Given the description of an element on the screen output the (x, y) to click on. 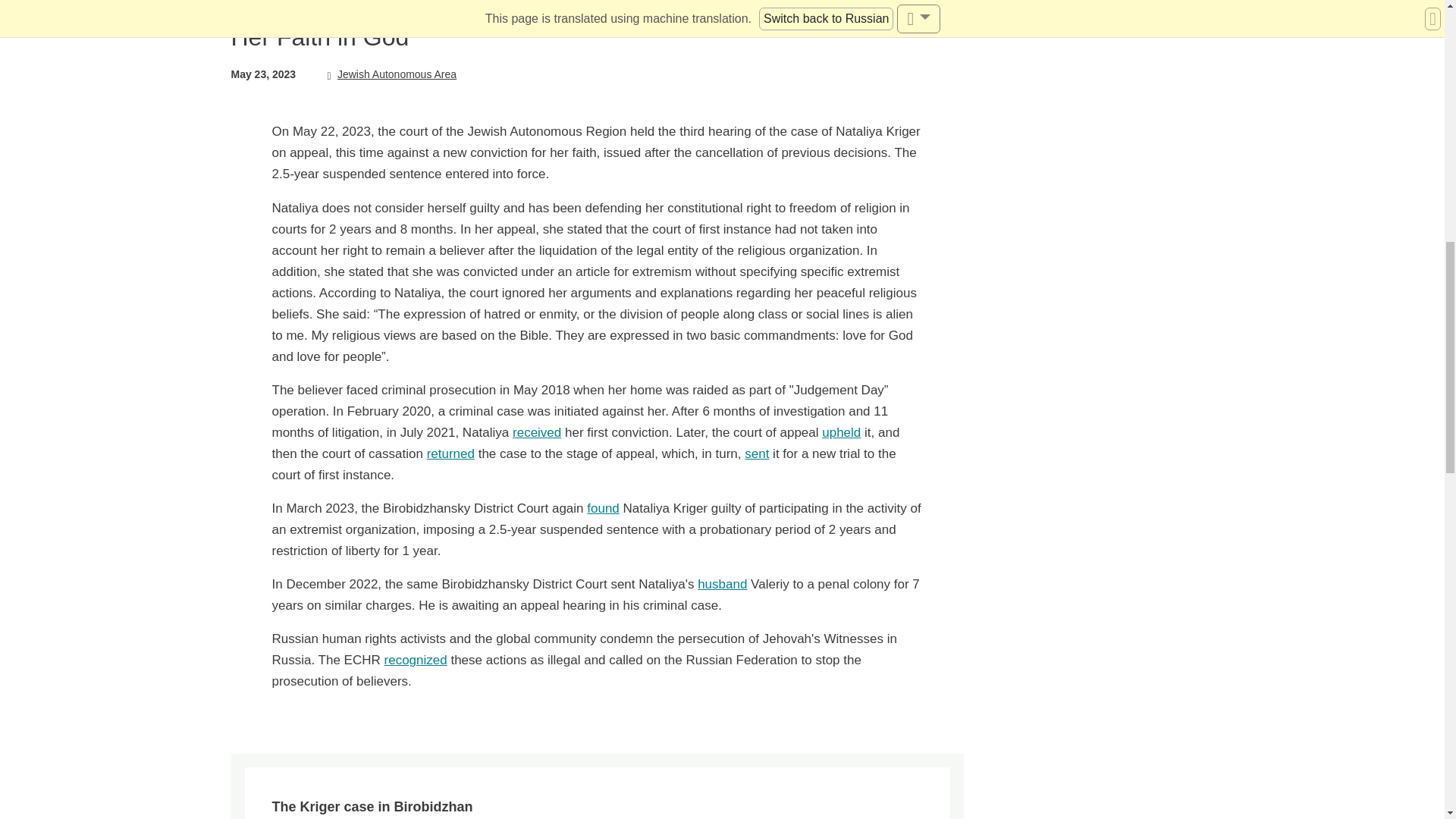
received (536, 432)
upheld (841, 432)
sent (756, 453)
husband (721, 584)
found (603, 508)
returned (450, 453)
Jewish Autonomous Area (391, 73)
